Given the description of an element on the screen output the (x, y) to click on. 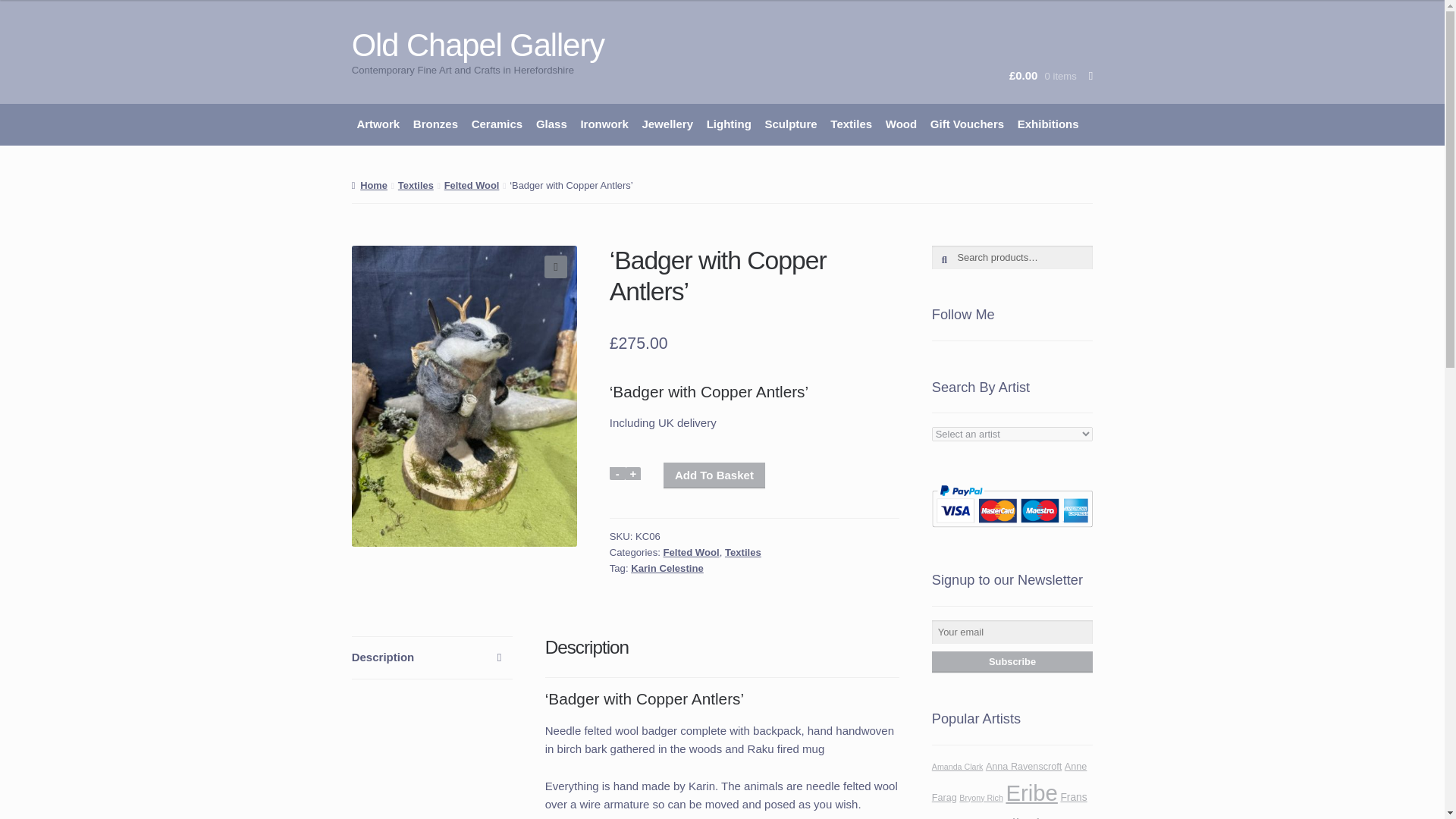
Textiles (415, 184)
Artwork (378, 124)
Textiles (851, 124)
Home (369, 184)
Jewellery (667, 124)
Ceramics (496, 124)
Wood (900, 124)
Bronzes (435, 124)
- (618, 472)
Lighting (729, 124)
Subscribe (1012, 662)
Old Chapel Gallery (478, 45)
Ironwork (604, 124)
Felted Wool (471, 184)
